Given the description of an element on the screen output the (x, y) to click on. 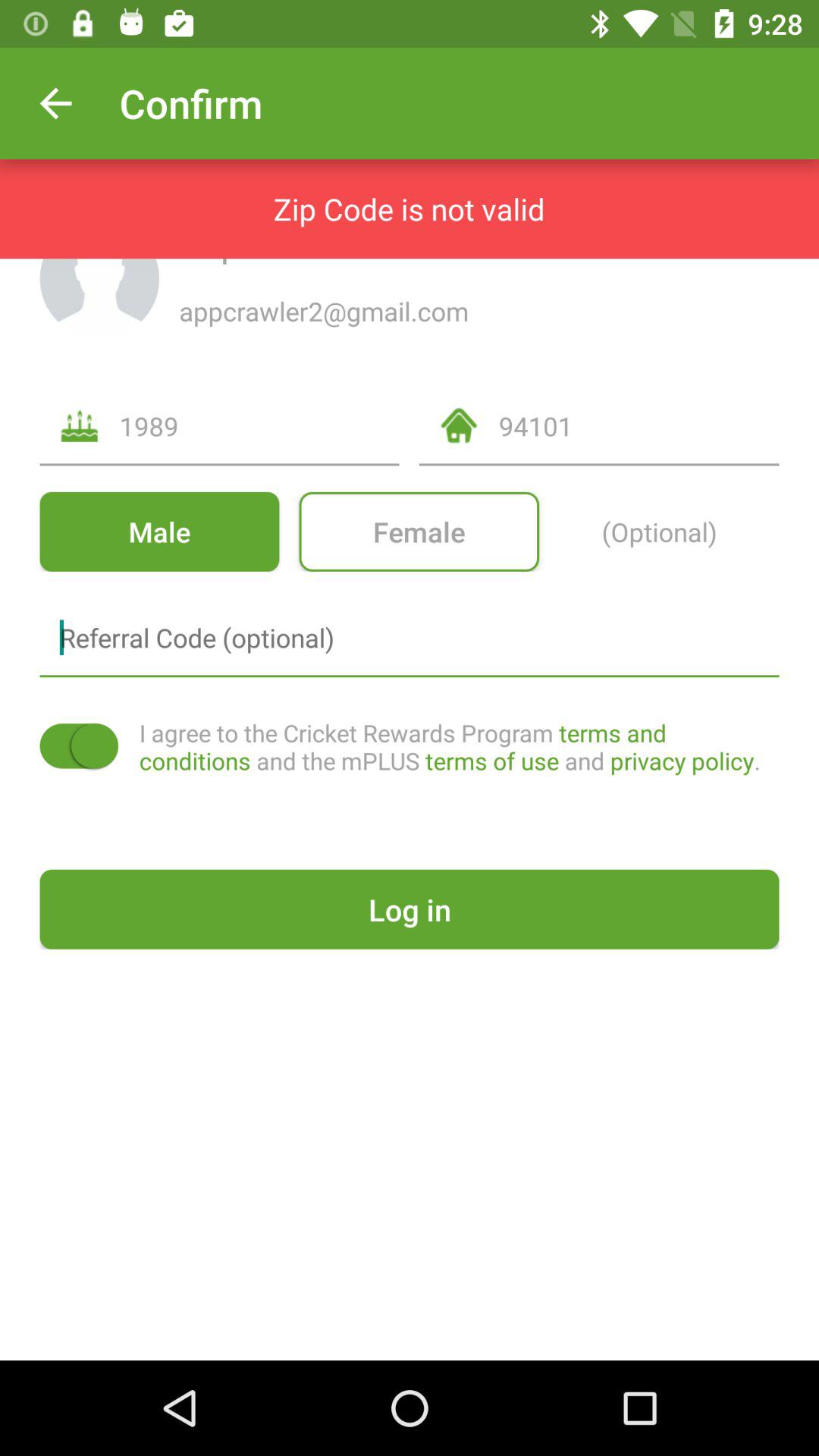
select 1989 icon (259, 425)
